Given the description of an element on the screen output the (x, y) to click on. 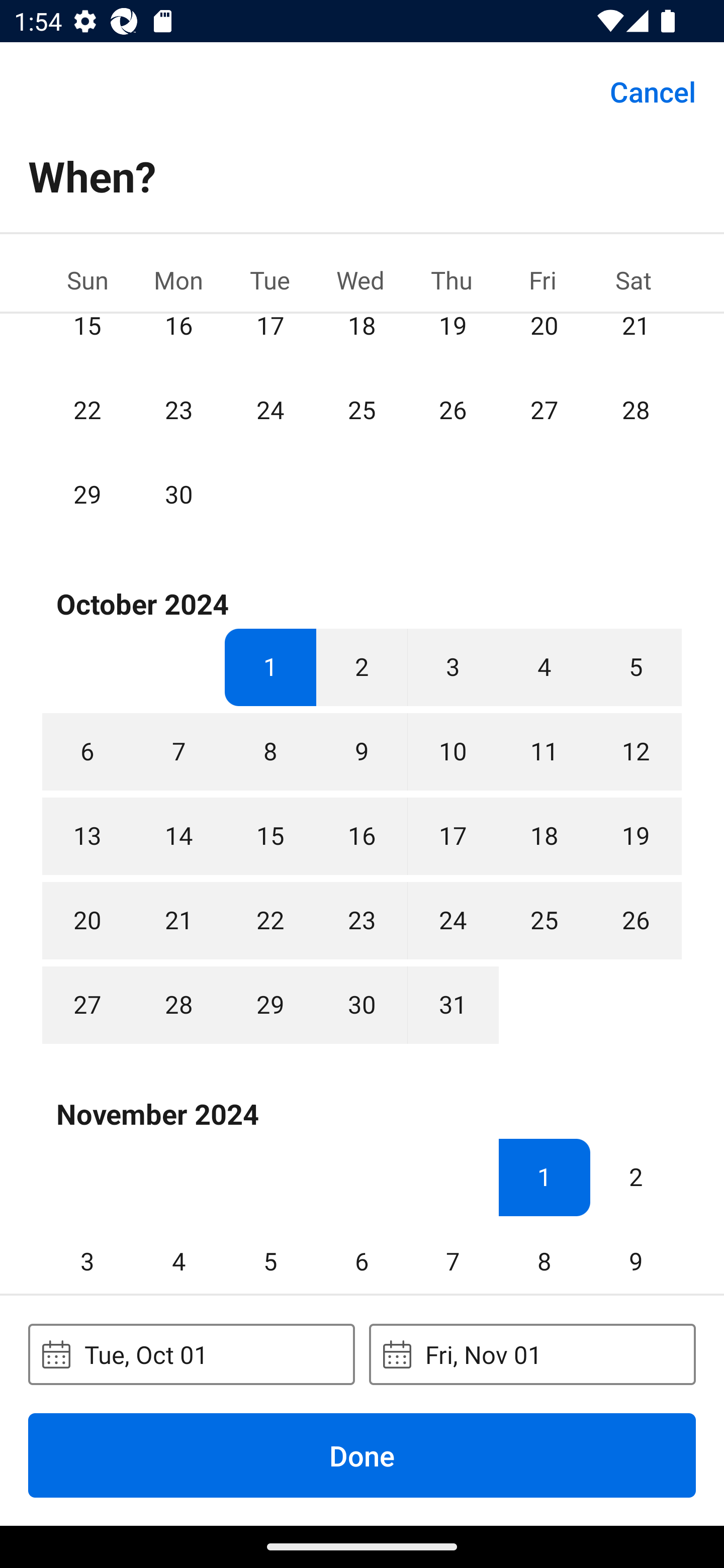
Cancel (652, 90)
Tue, Oct 01 (191, 1353)
Fri, Nov 01 (532, 1353)
Done (361, 1454)
